Given the description of an element on the screen output the (x, y) to click on. 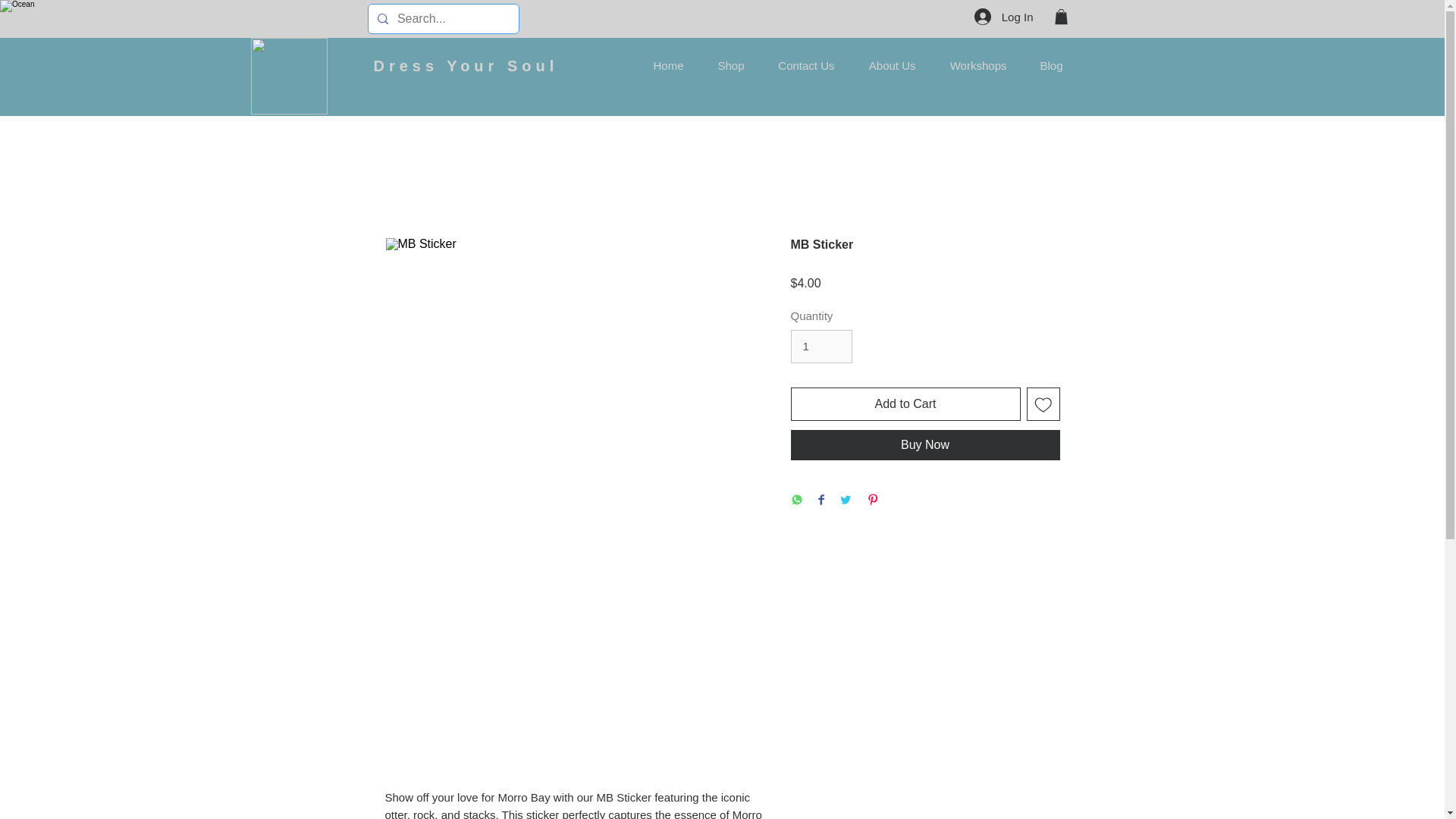
Add to Cart (905, 403)
Buy Now (924, 444)
Dress Your Soul (464, 65)
Shop (724, 65)
Home (662, 65)
About Us (886, 65)
Contact Us (800, 65)
Dys octopus logo.png (288, 75)
Workshops (971, 65)
Log In (1003, 16)
